Given the description of an element on the screen output the (x, y) to click on. 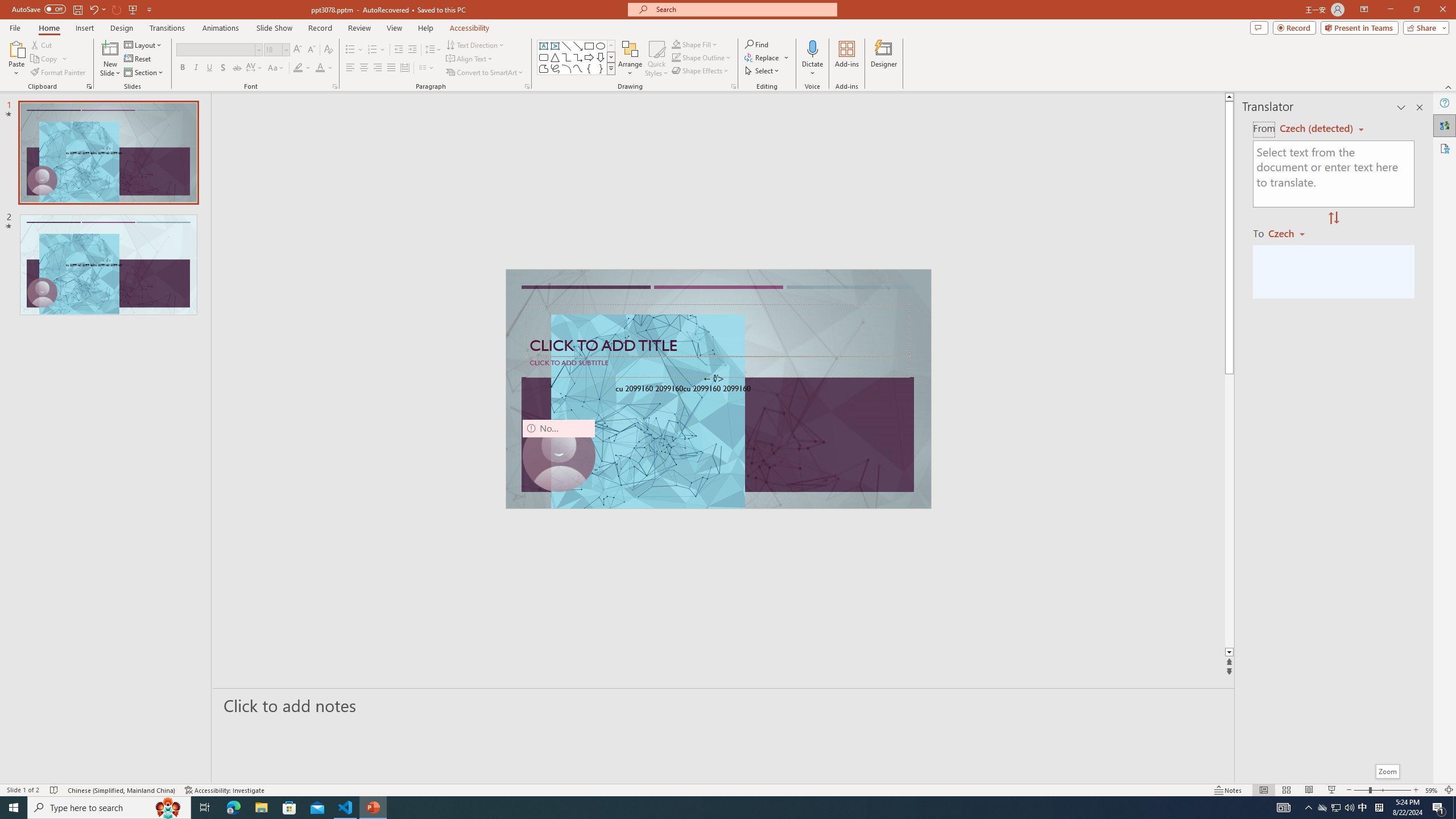
Swap "from" and "to" languages. (1333, 218)
Czech (1291, 232)
